Given the description of an element on the screen output the (x, y) to click on. 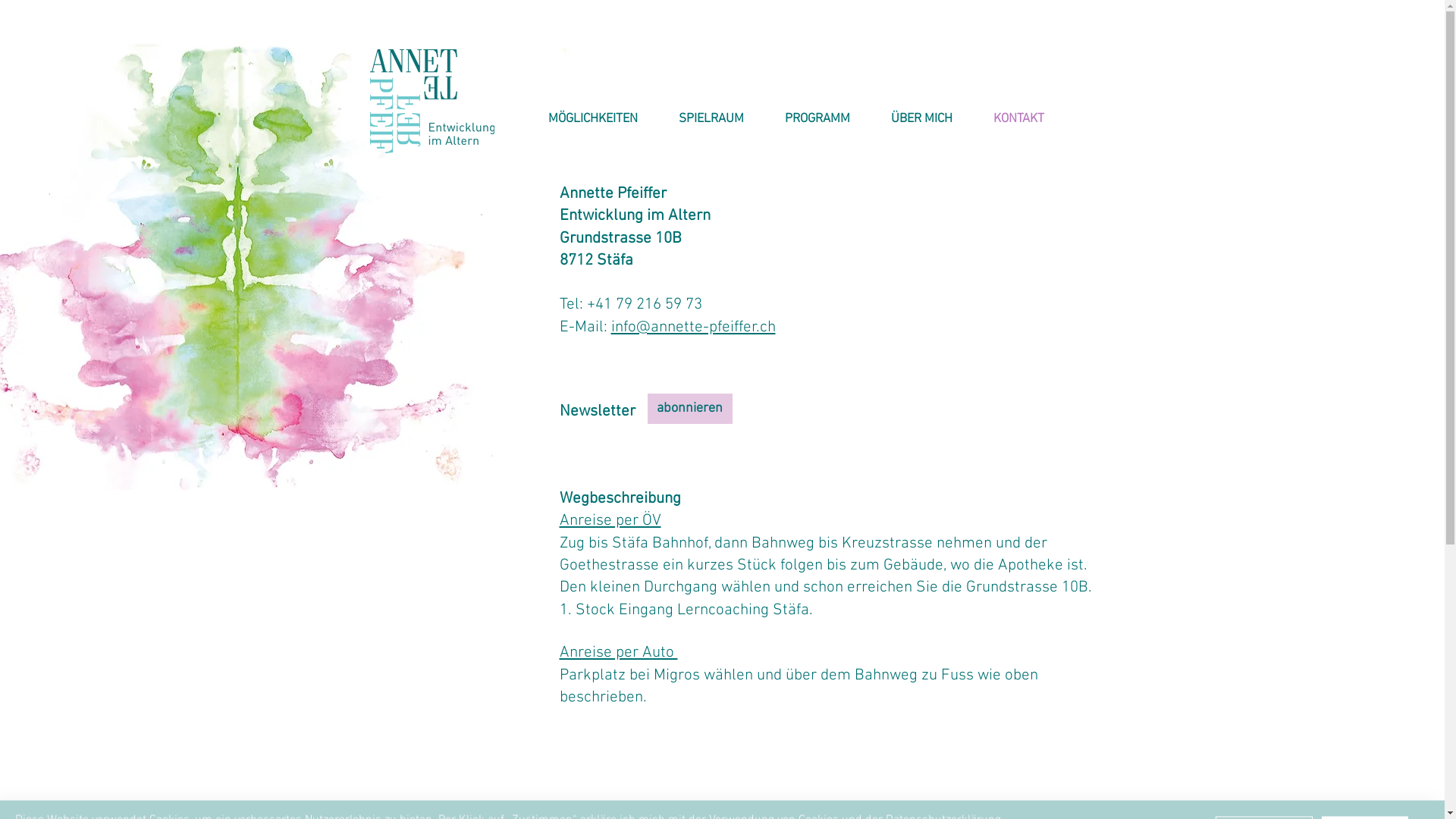
PROGRAMM Element type: text (817, 119)
info@annette-pfeiffer.ch Element type: text (693, 326)
abonnieren Element type: text (689, 408)
SPIELRAUM Element type: text (711, 119)
KONTAKT Element type: text (1017, 119)
